Given the description of an element on the screen output the (x, y) to click on. 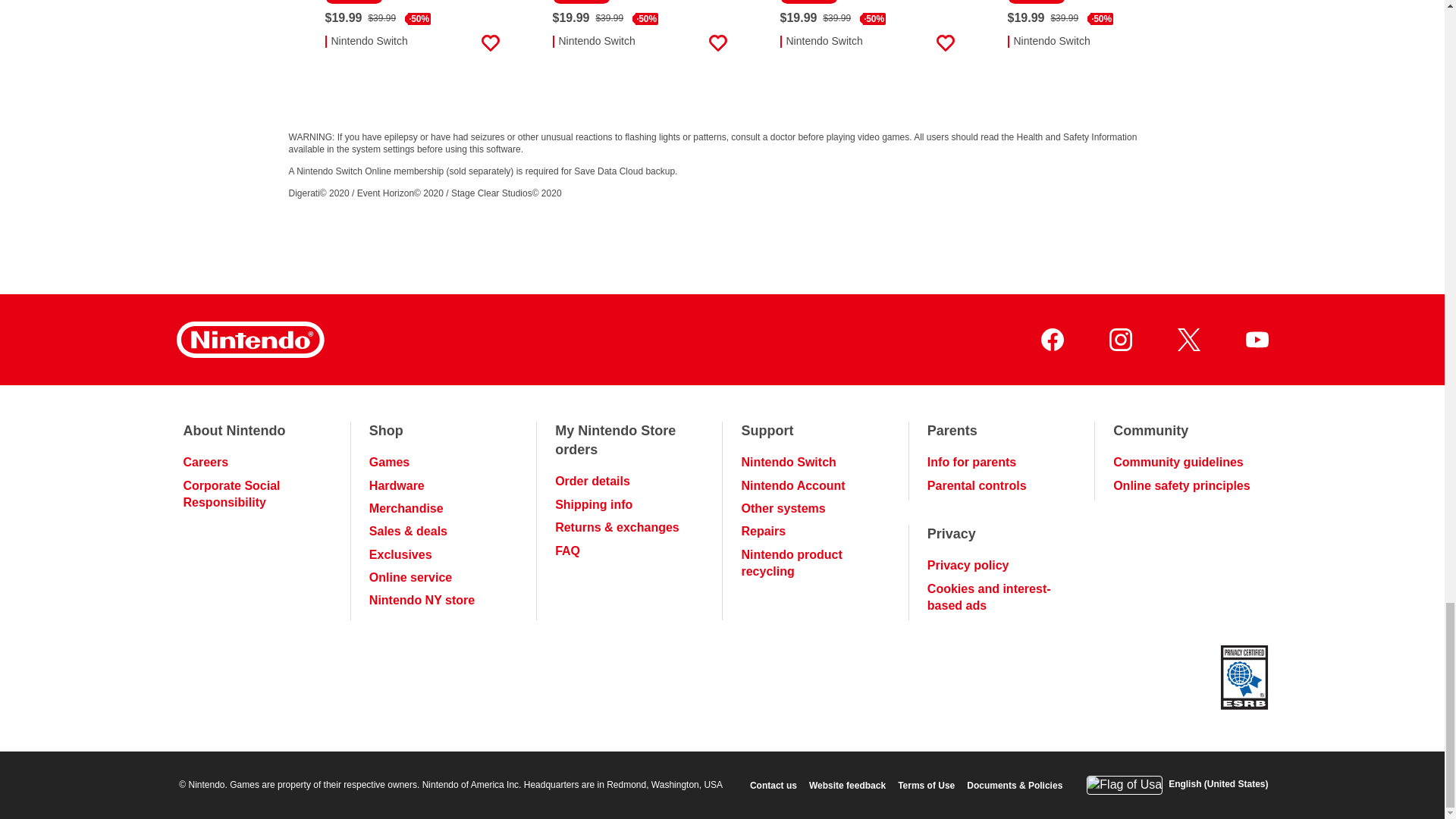
Add to Wish List (1172, 43)
Nintendo on Instagram (1119, 339)
Add to Wish List (716, 43)
Nintendo on Facebook (1051, 339)
Nintendo Homepage (249, 339)
Add to Wish List (944, 43)
Add to Wish List (489, 43)
